Given the description of an element on the screen output the (x, y) to click on. 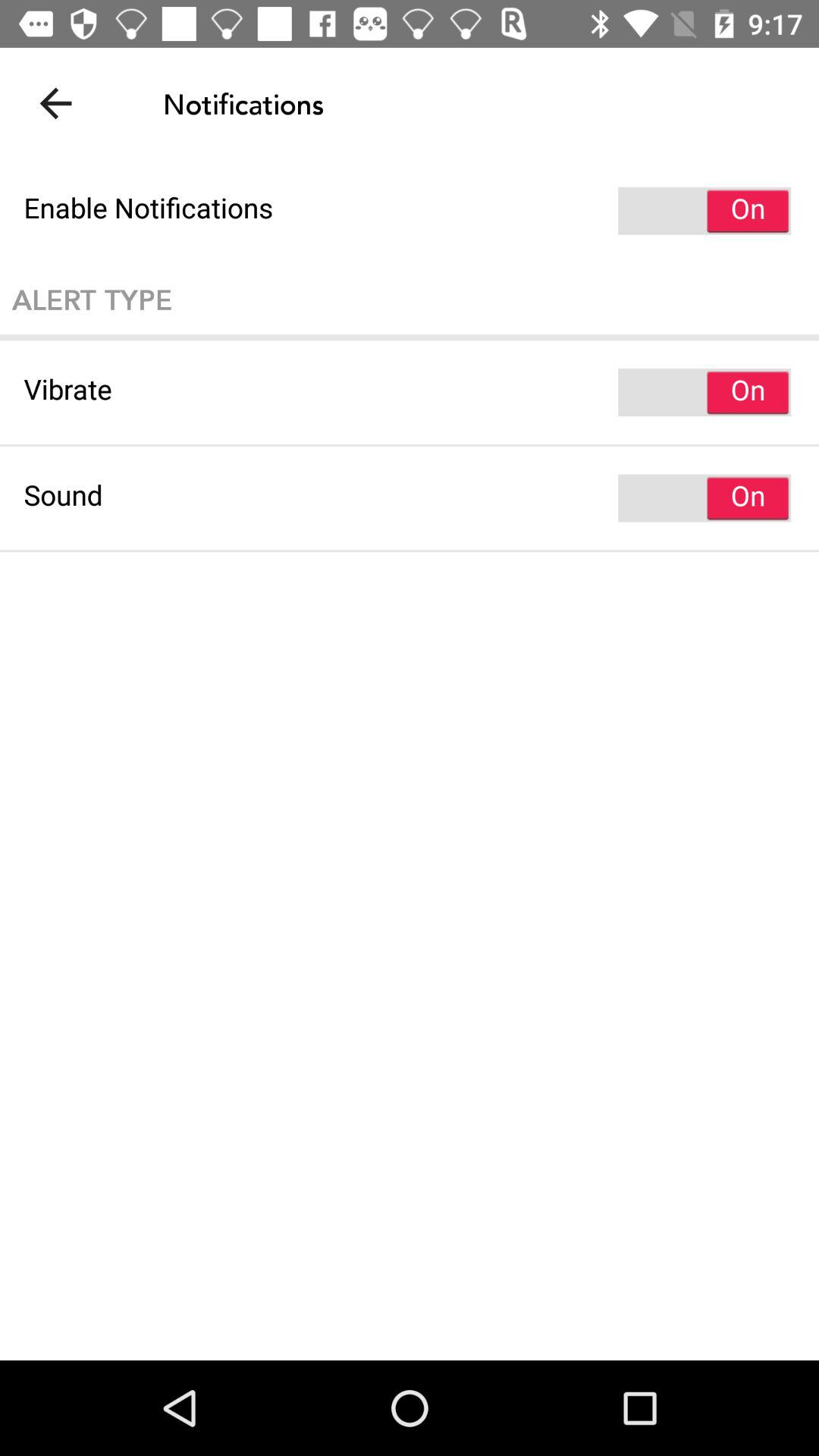
open the enable notifications item (409, 210)
